Given the description of an element on the screen output the (x, y) to click on. 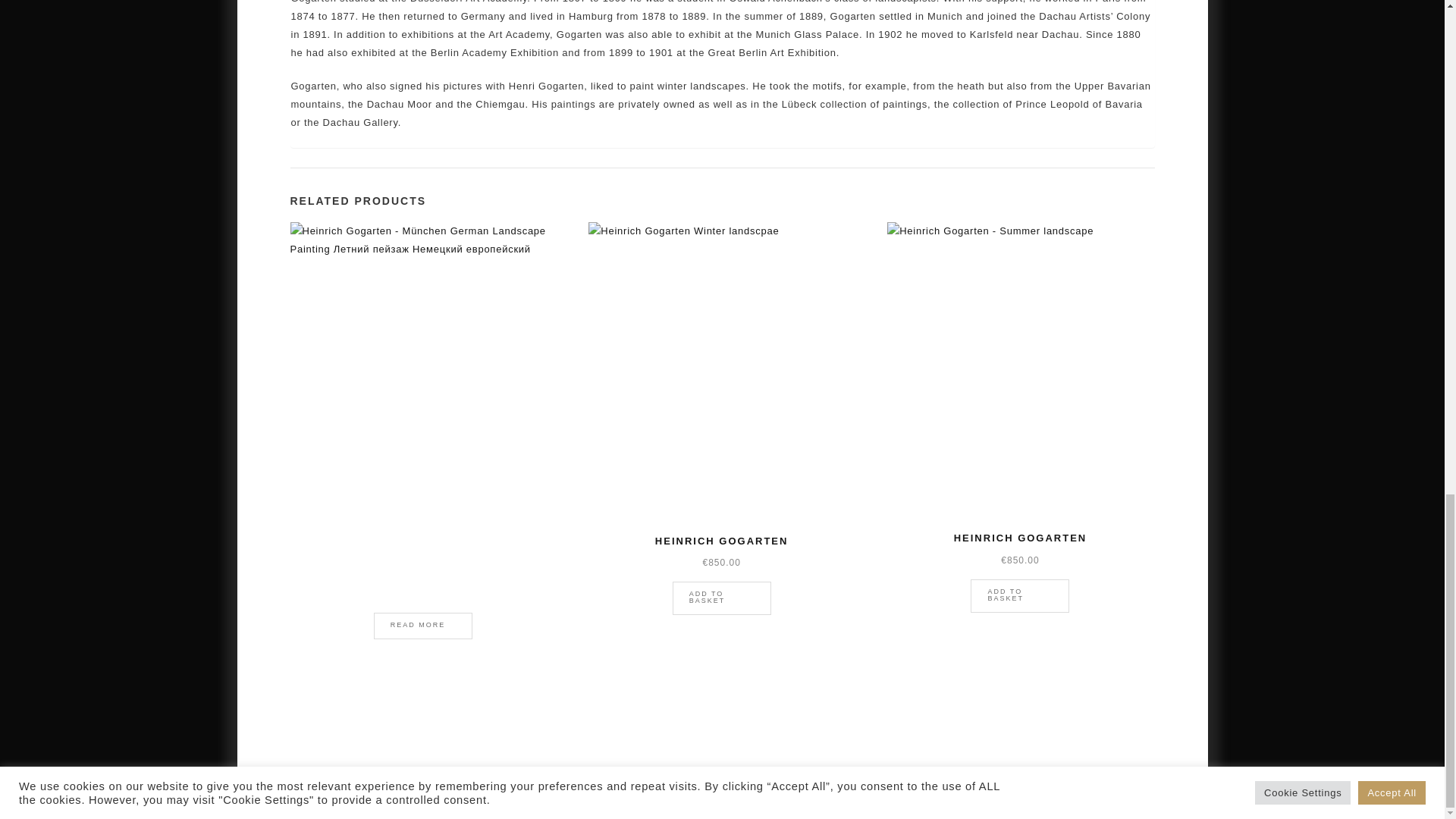
ADD TO BASKET (721, 598)
READ MORE (422, 625)
ADD TO BASKET (1019, 595)
